Given the description of an element on the screen output the (x, y) to click on. 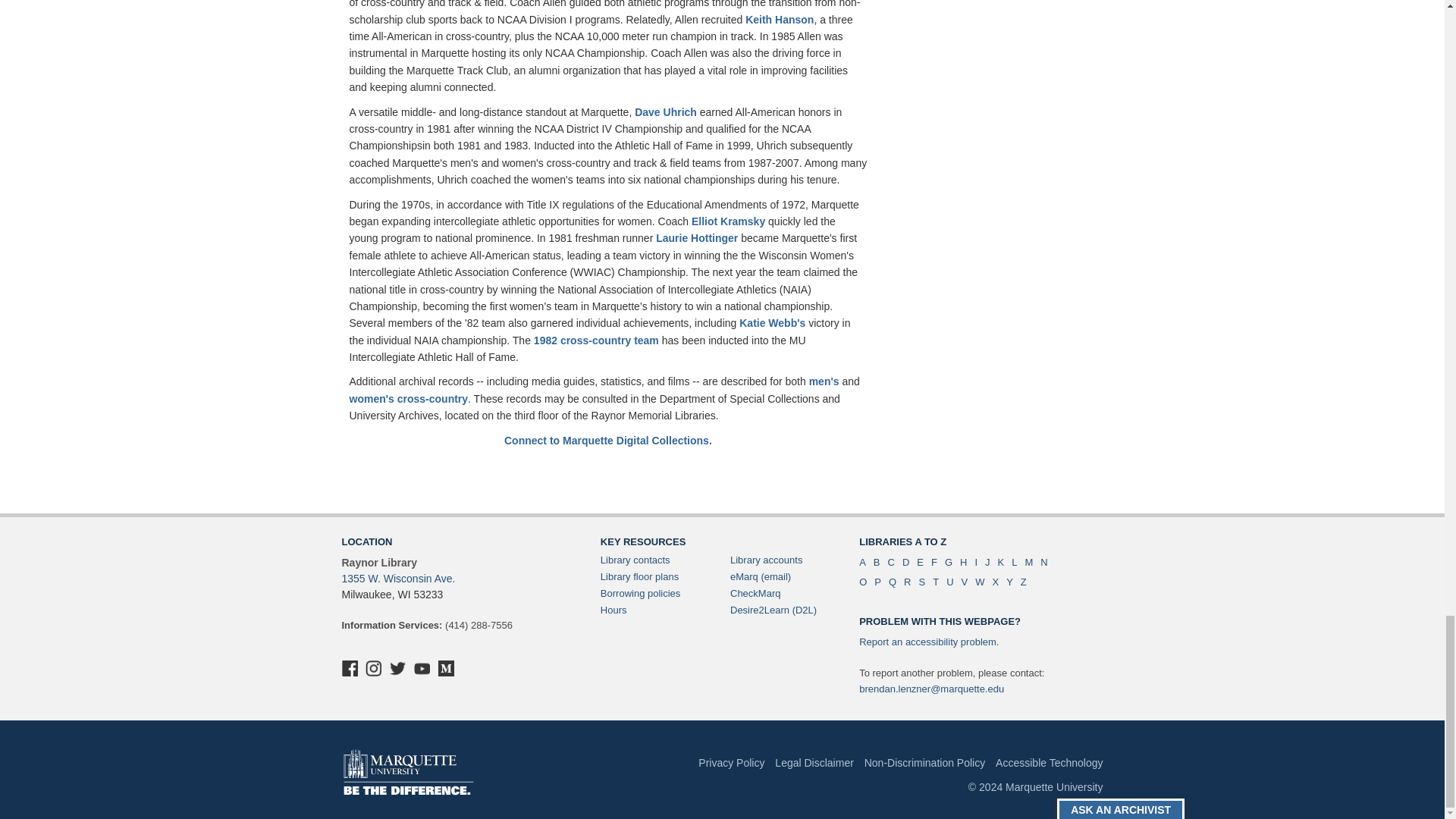
Dave Uhrich (665, 111)
Connect to Marquette Digital Collections. (607, 440)
1982 cross-country team (596, 340)
men's (824, 381)
View the hours for Raynor Library (613, 609)
Laurie Hottinger (697, 237)
Katie Webb's (772, 322)
Elliot Kramsky (728, 221)
Keith Hanson (779, 19)
women's cross-country (408, 398)
